Given the description of an element on the screen output the (x, y) to click on. 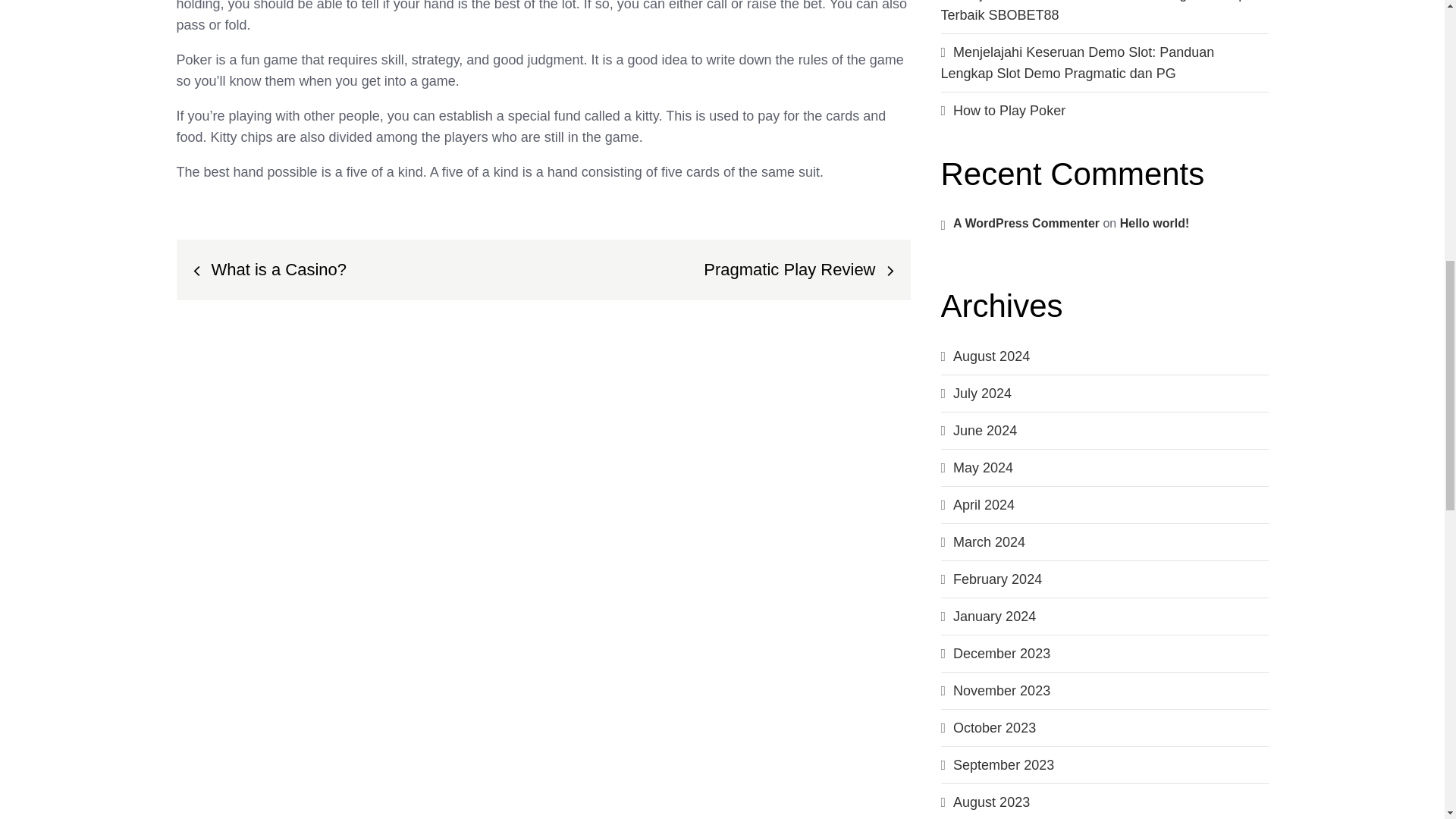
January 2024 (994, 616)
June 2024 (984, 430)
November 2023 (1001, 690)
How to Play Poker (1009, 110)
August 2024 (991, 355)
December 2023 (1001, 653)
February 2024 (997, 579)
September 2023 (1003, 765)
August 2023 (991, 801)
